Given the description of an element on the screen output the (x, y) to click on. 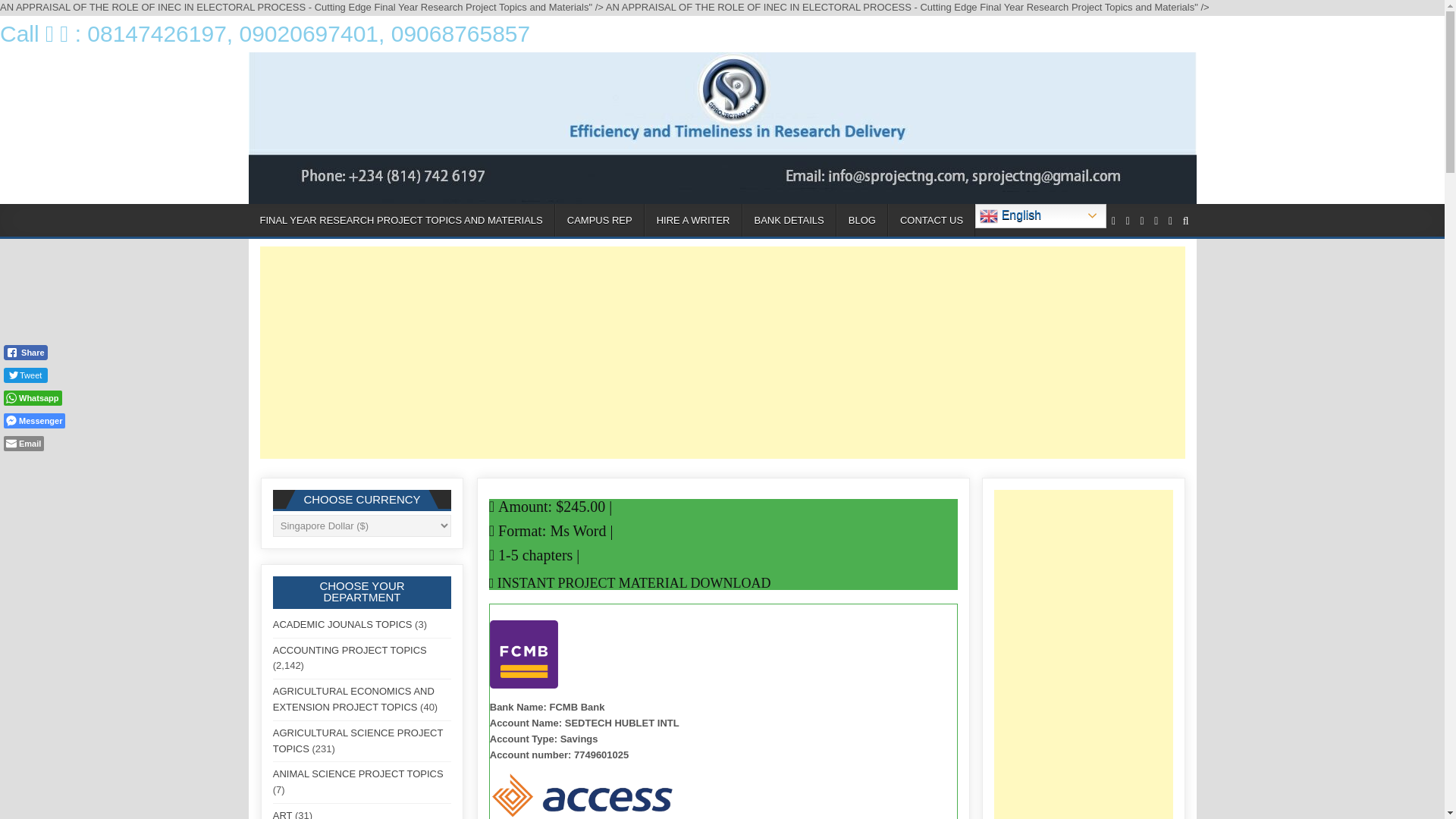
CONTACT US (931, 219)
BLOG (861, 219)
CAMPUS REP (599, 219)
BANK DETAILS (788, 219)
FINAL YEAR RESEARCH PROJECT TOPICS AND MATERIALS (401, 219)
HIRE A WRITER (693, 219)
